Given the description of an element on the screen output the (x, y) to click on. 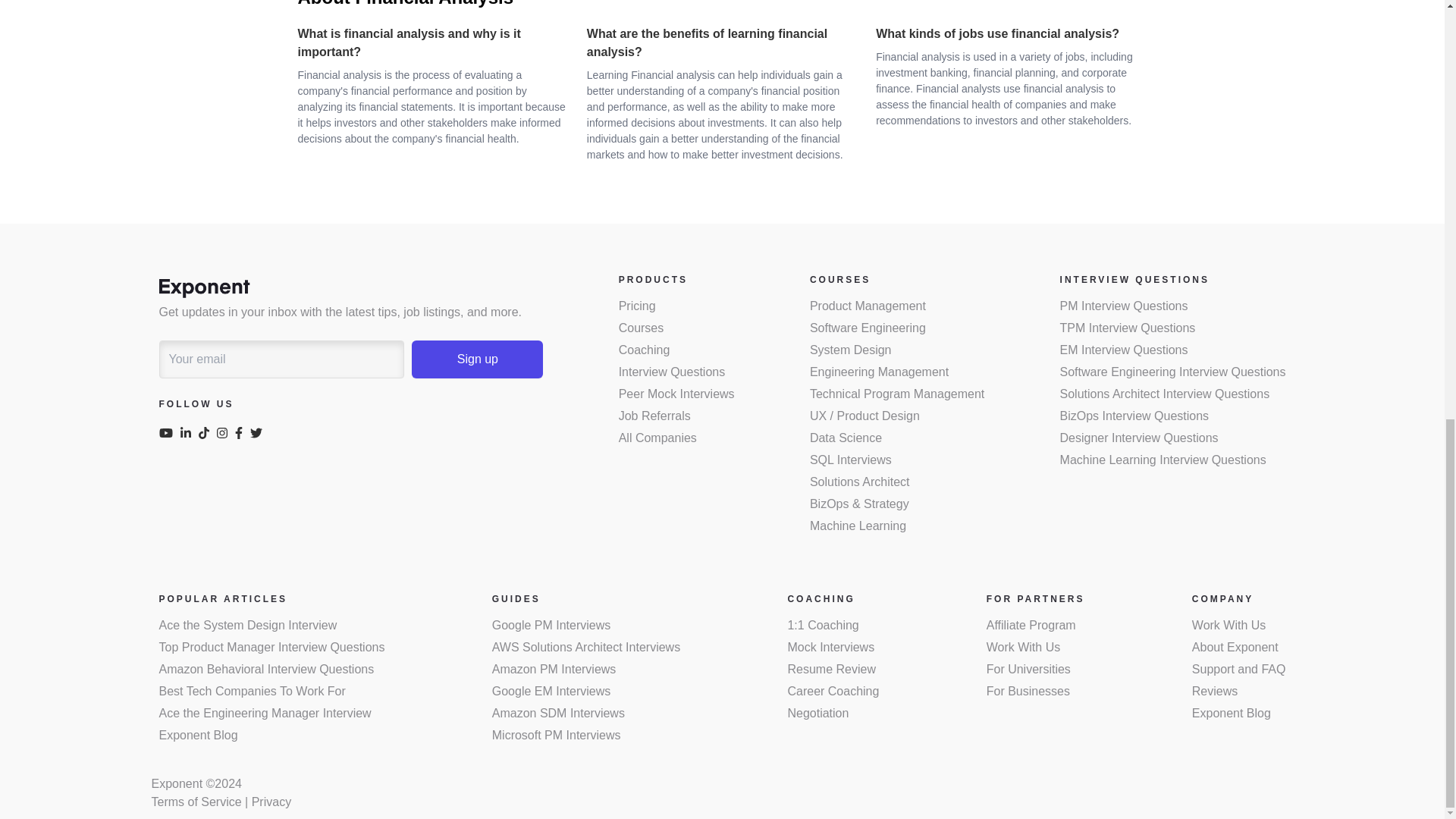
Follow Exponent on Twitter (259, 434)
Follow Exponent on Instagram (225, 434)
Subscribe to Exponent on Youtube (169, 434)
Follow Exponent on TikTok (207, 434)
Follow Exponent on LinkedIn (189, 434)
